Given the description of an element on the screen output the (x, y) to click on. 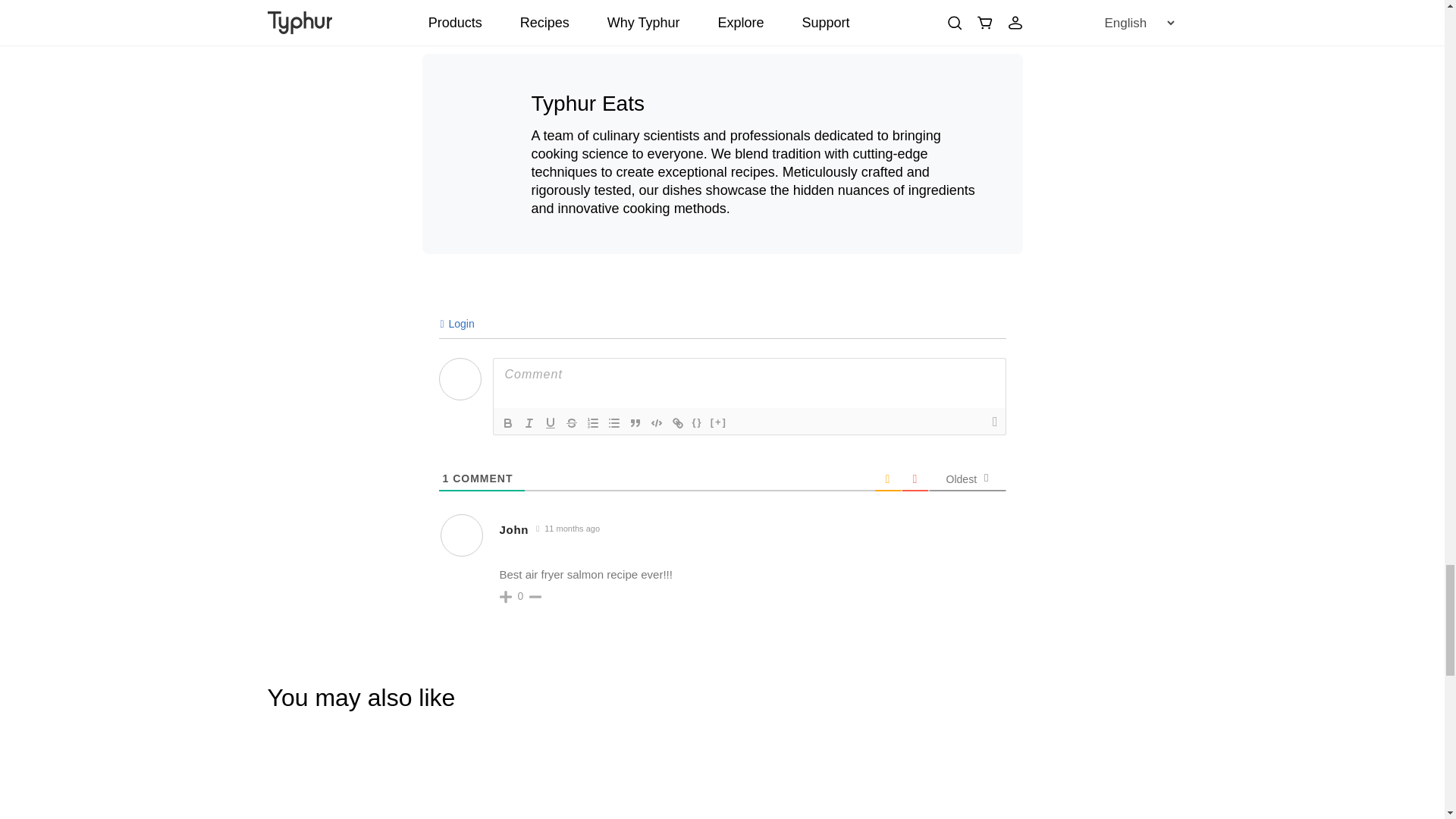
Spoiler (718, 423)
Source Code (697, 423)
Italic (529, 423)
Link (677, 423)
Ordered List (593, 423)
Bold (507, 423)
Blockquote (635, 423)
Strike (571, 423)
Unordered List (614, 423)
Underline (550, 423)
Code Block (656, 423)
